Given the description of an element on the screen output the (x, y) to click on. 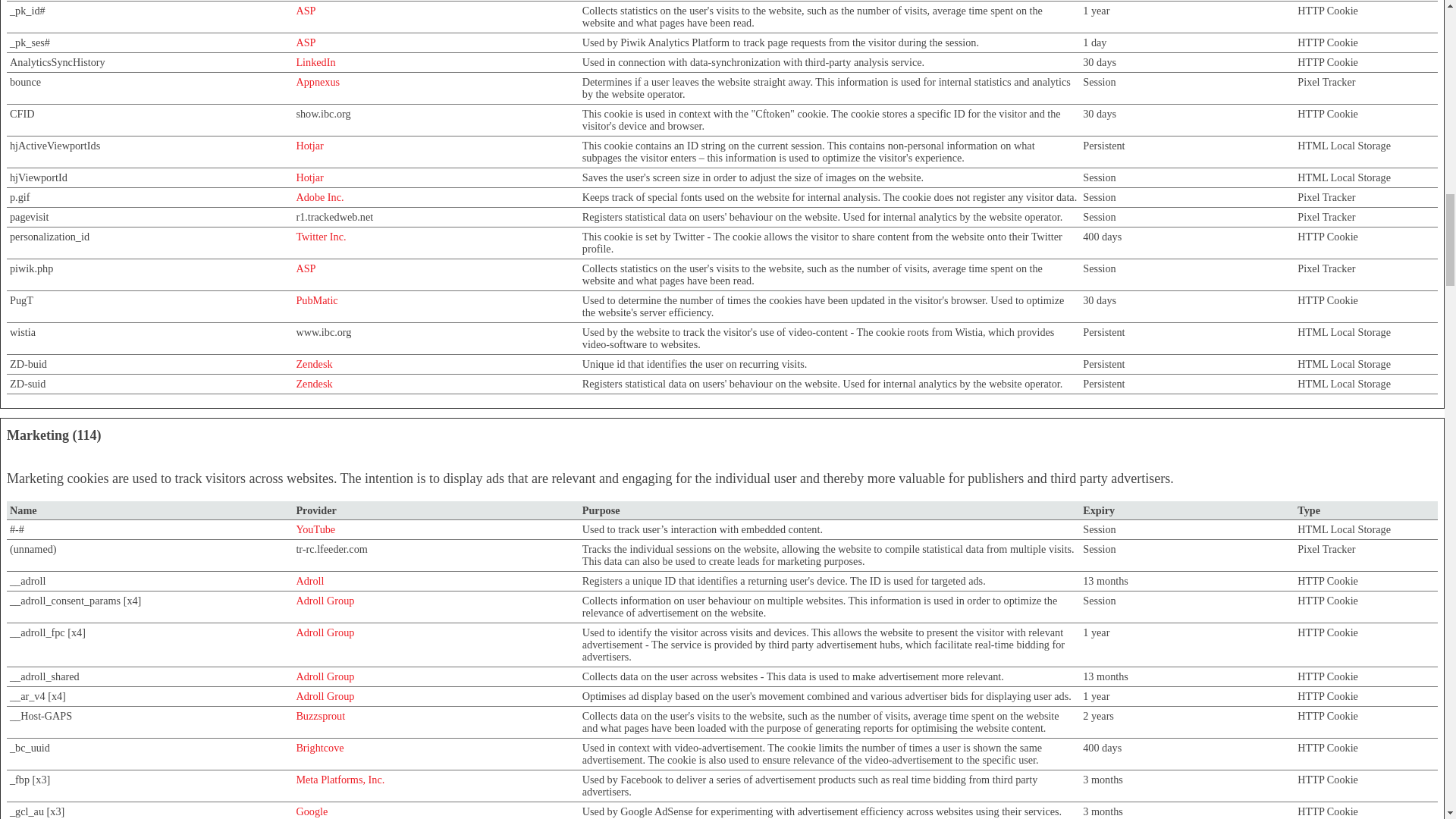
ASP (305, 10)
Hotjar (309, 177)
LinkedIn (314, 61)
Hotjar (309, 145)
Appnexus (317, 81)
ASP (305, 42)
